Given the description of an element on the screen output the (x, y) to click on. 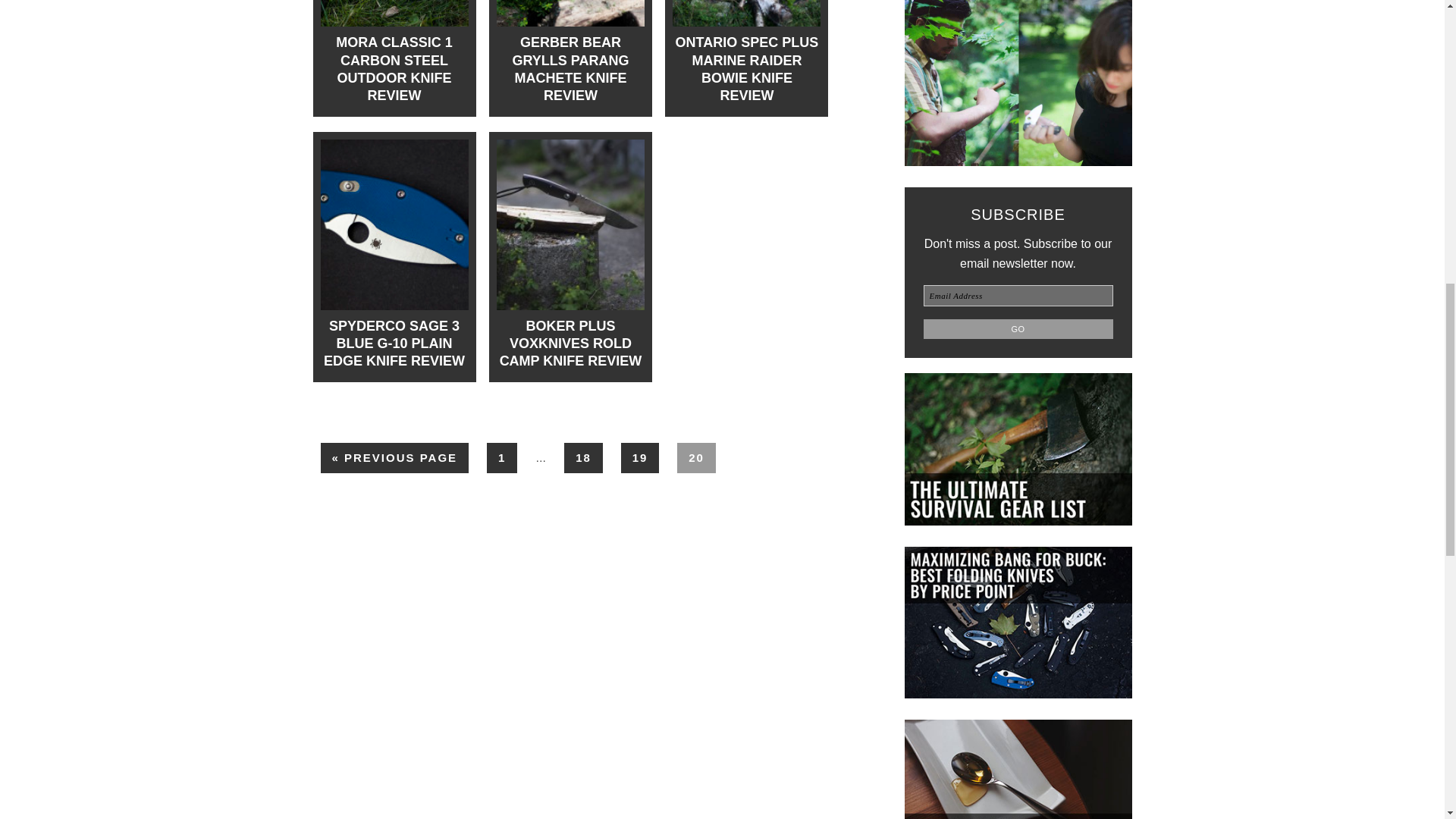
GERBER BEAR GRYLLS PARANG MACHETE KNIFE REVIEW (570, 69)
19 (640, 458)
18 (583, 458)
MORA CLASSIC 1 CARBON STEEL OUTDOOR KNIFE REVIEW (393, 69)
1 (501, 458)
ONTARIO SPEC PLUS MARINE RAIDER BOWIE KNIFE REVIEW (746, 69)
Go (1018, 329)
20 (696, 458)
BOKER PLUS VOXKNIVES ROLD CAMP KNIFE REVIEW (570, 343)
SPYDERCO SAGE 3 BLUE G-10 PLAIN EDGE KNIFE REVIEW (393, 343)
